Given the description of an element on the screen output the (x, y) to click on. 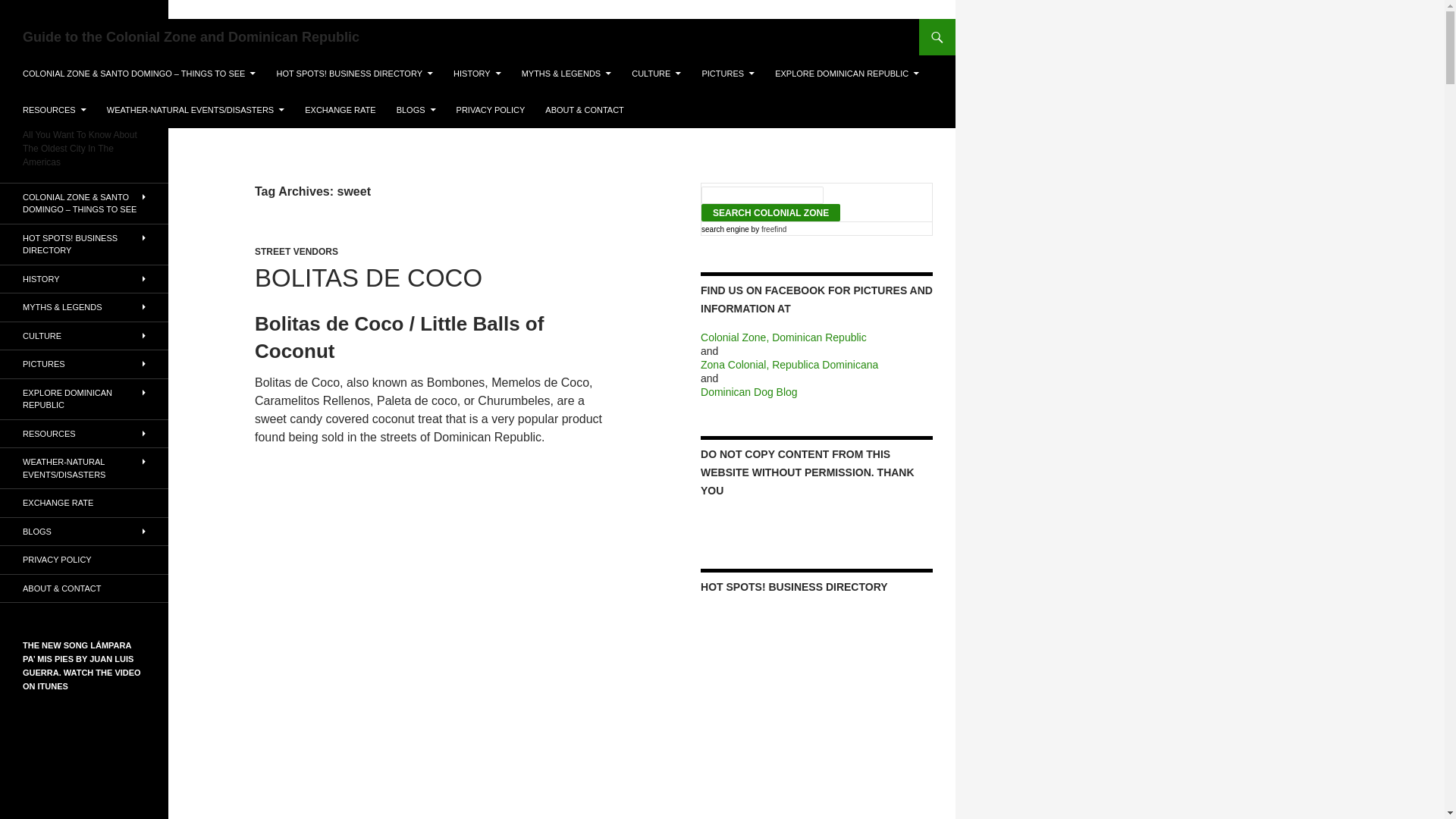
Guide to the Colonial Zone and Dominican Republic (191, 36)
search Colonial Zone (770, 212)
